Given the description of an element on the screen output the (x, y) to click on. 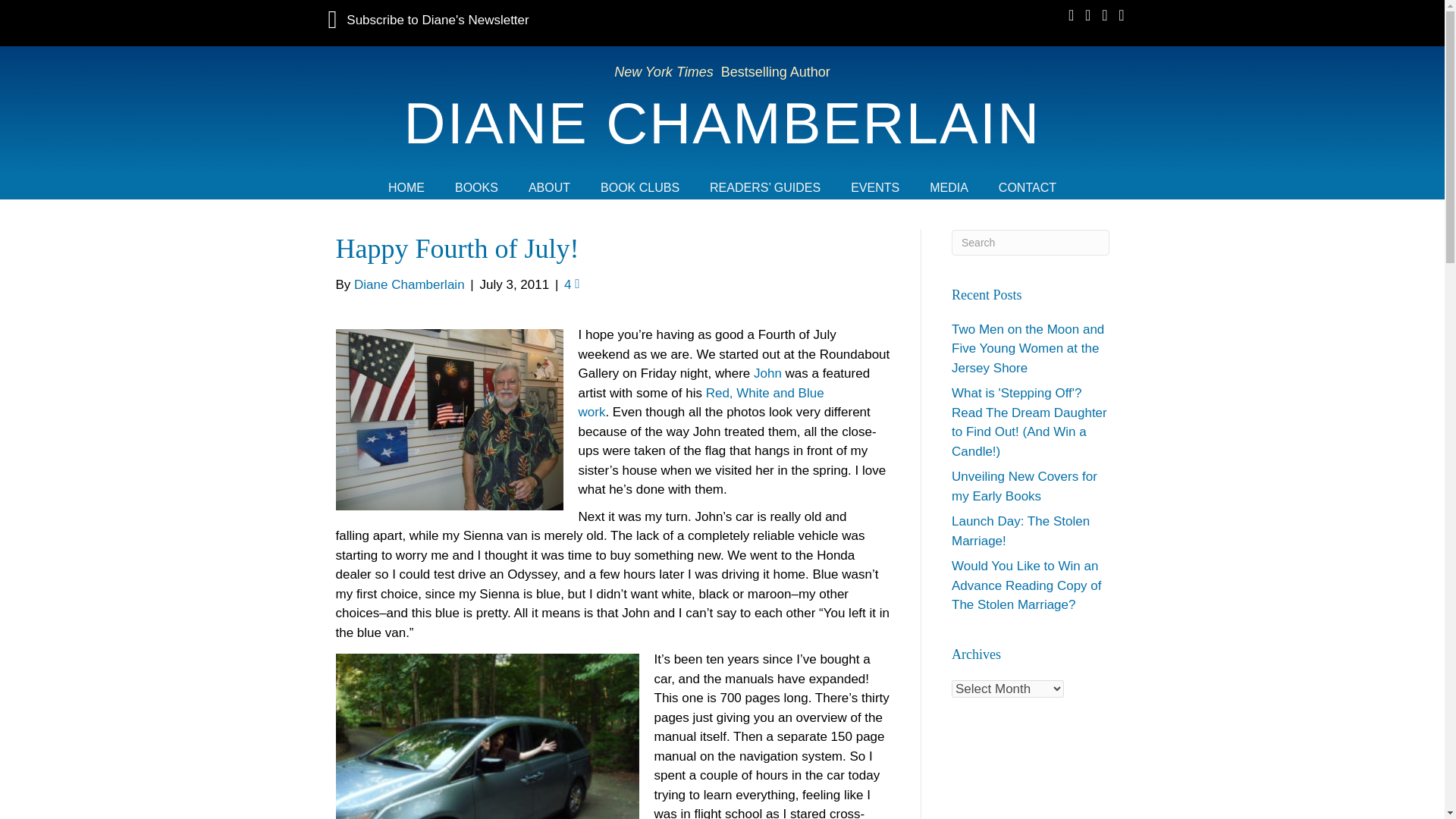
HOME (405, 187)
BOOK CLUBS (639, 187)
BOOKS (476, 187)
Diane Chamberlain (722, 122)
EVENTS (874, 187)
MEDIA (949, 187)
4 (571, 284)
Red, White and Blue work (701, 402)
Type and press Enter to search. (1030, 241)
John (770, 373)
Diane Chamberlain (408, 284)
CONTACT (1027, 187)
di honda ext long (486, 736)
Subscribe to Diane's Newsletter (427, 20)
ABOUT (549, 187)
